Given the description of an element on the screen output the (x, y) to click on. 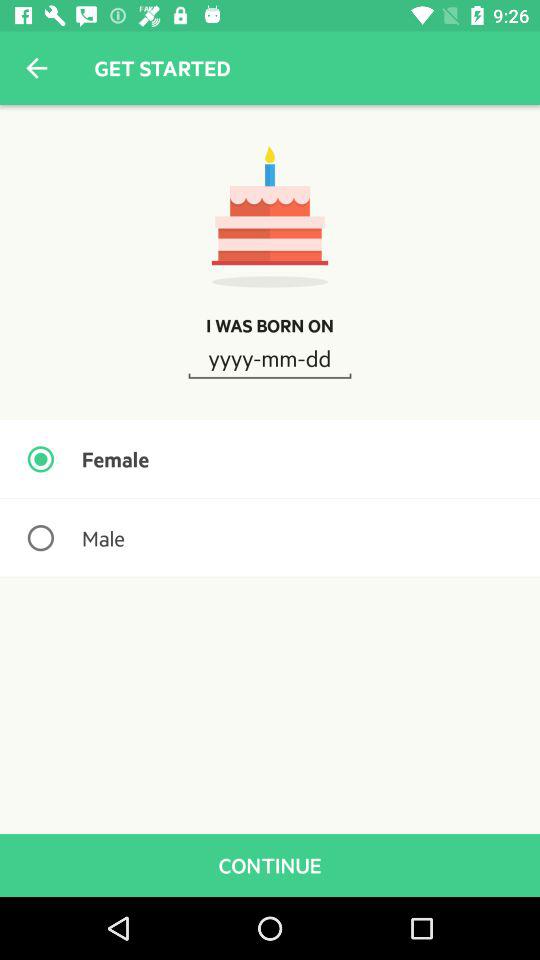
turn on the item above male item (270, 459)
